Given the description of an element on the screen output the (x, y) to click on. 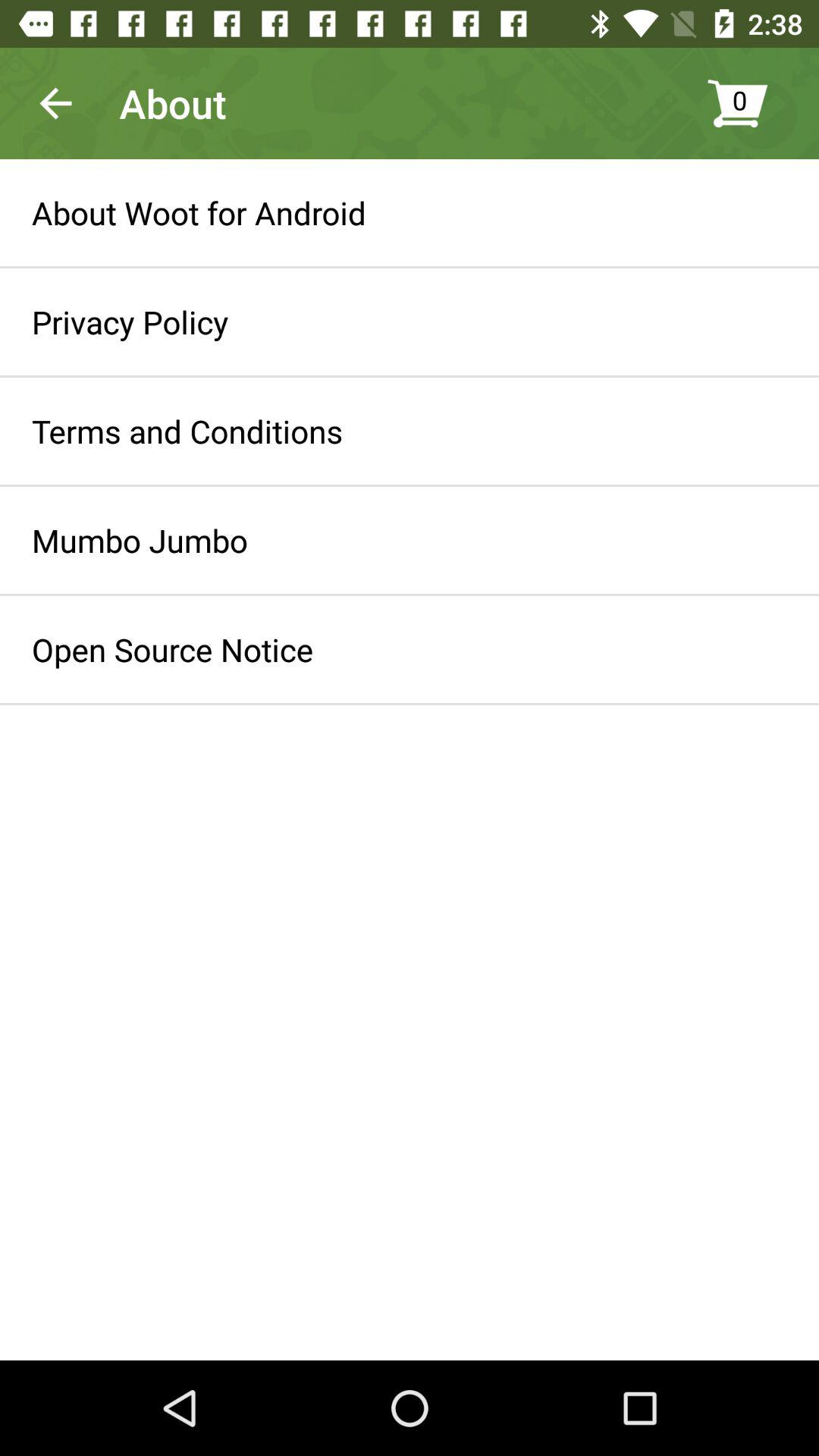
select item below privacy policy item (186, 430)
